Given the description of an element on the screen output the (x, y) to click on. 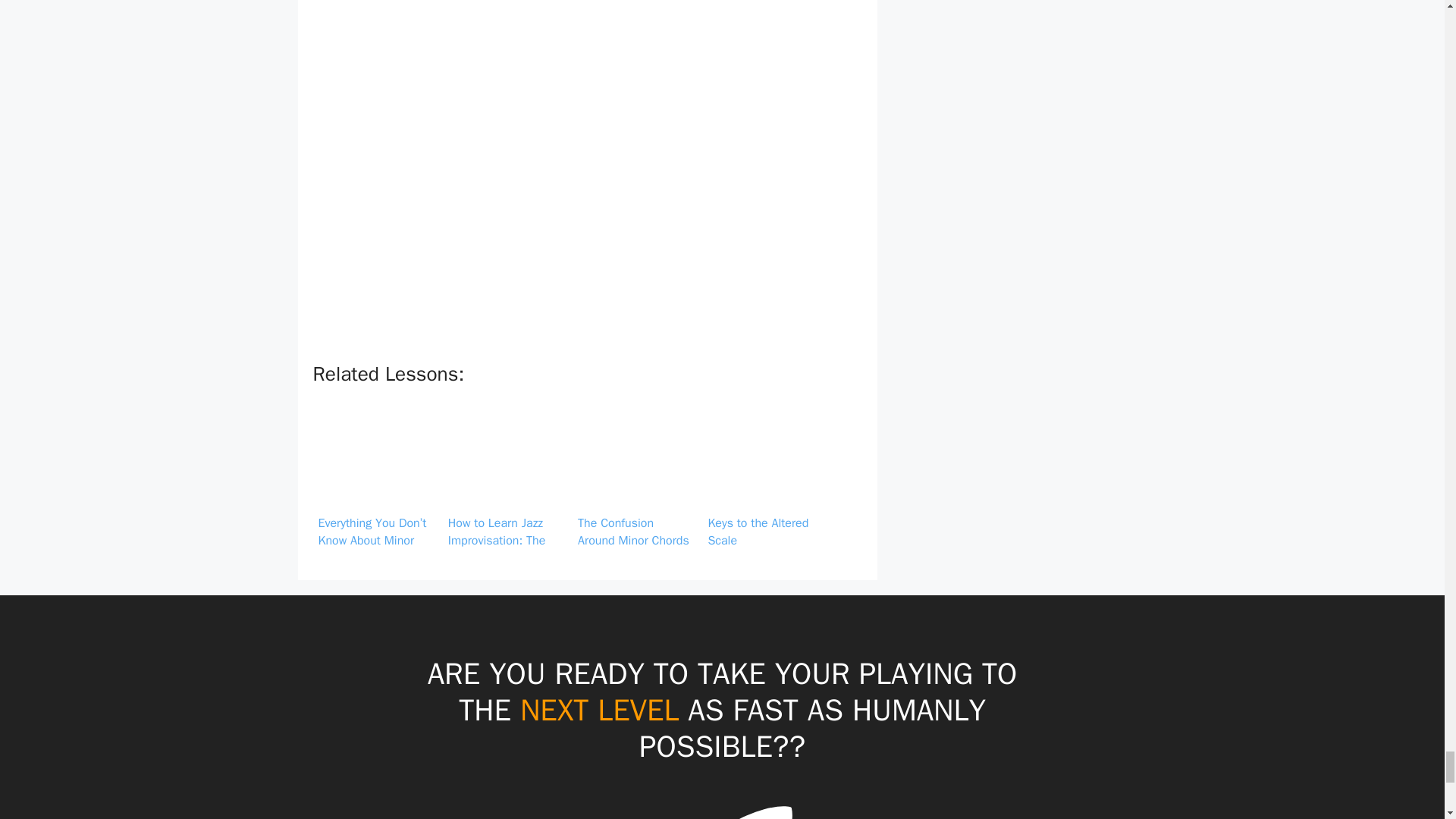
ionicons-v5-p (722, 807)
